Given the description of an element on the screen output the (x, y) to click on. 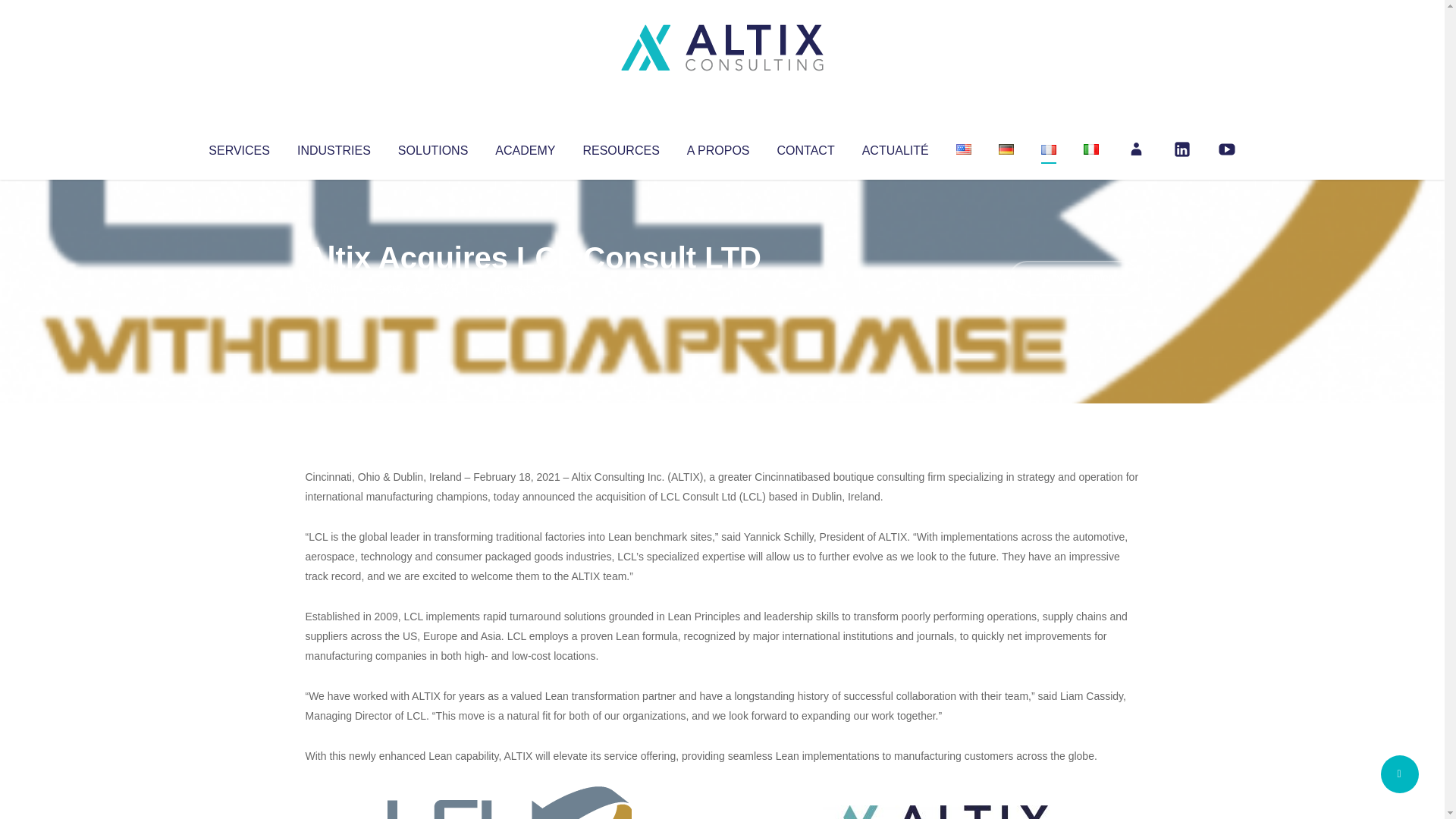
ACADEMY (524, 146)
No Comments (1073, 278)
Articles par Altix (333, 287)
INDUSTRIES (334, 146)
A PROPOS (718, 146)
SOLUTIONS (432, 146)
Uncategorized (530, 287)
SERVICES (238, 146)
RESOURCES (620, 146)
Altix (333, 287)
